Given the description of an element on the screen output the (x, y) to click on. 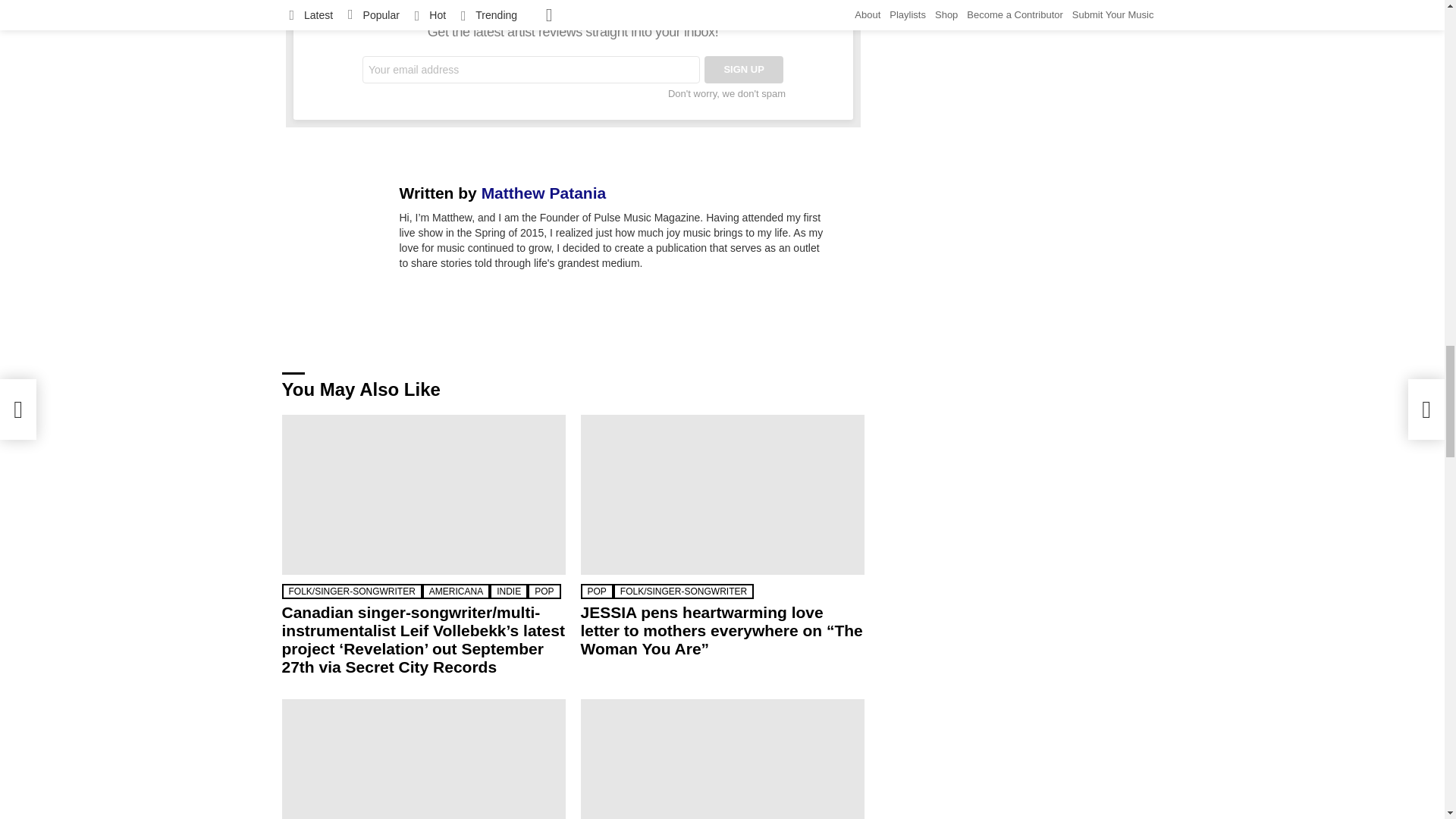
Sign up (743, 69)
